Given the description of an element on the screen output the (x, y) to click on. 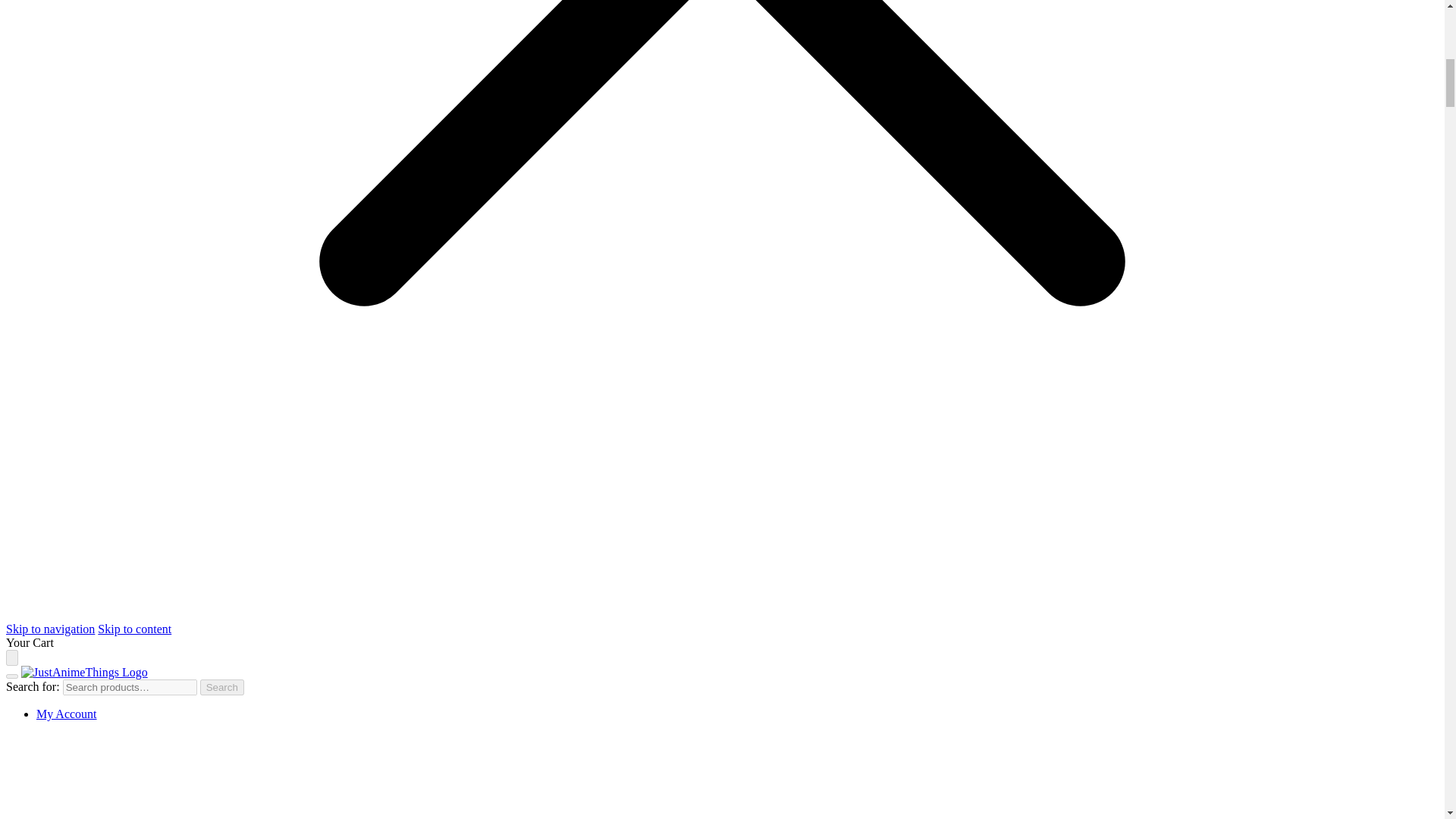
Skip to content (134, 628)
Search (222, 687)
Skip to navigation (49, 628)
